Given the description of an element on the screen output the (x, y) to click on. 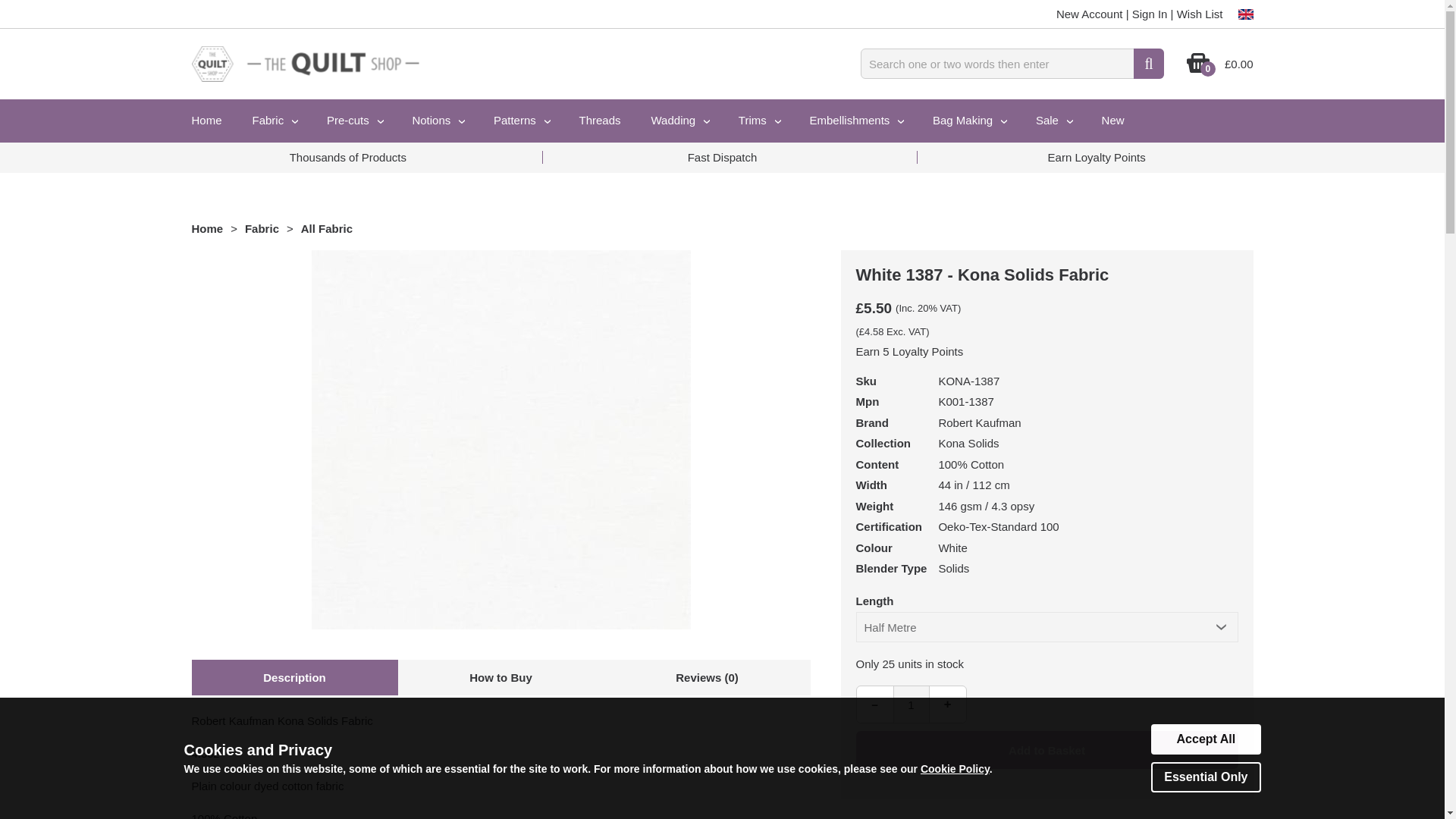
New Account (1089, 13)
Fabric (274, 120)
1 (911, 704)
Go (1148, 63)
0 (1197, 69)
Home (205, 119)
Sign In (1149, 13)
Wish List (1199, 13)
